Given the description of an element on the screen output the (x, y) to click on. 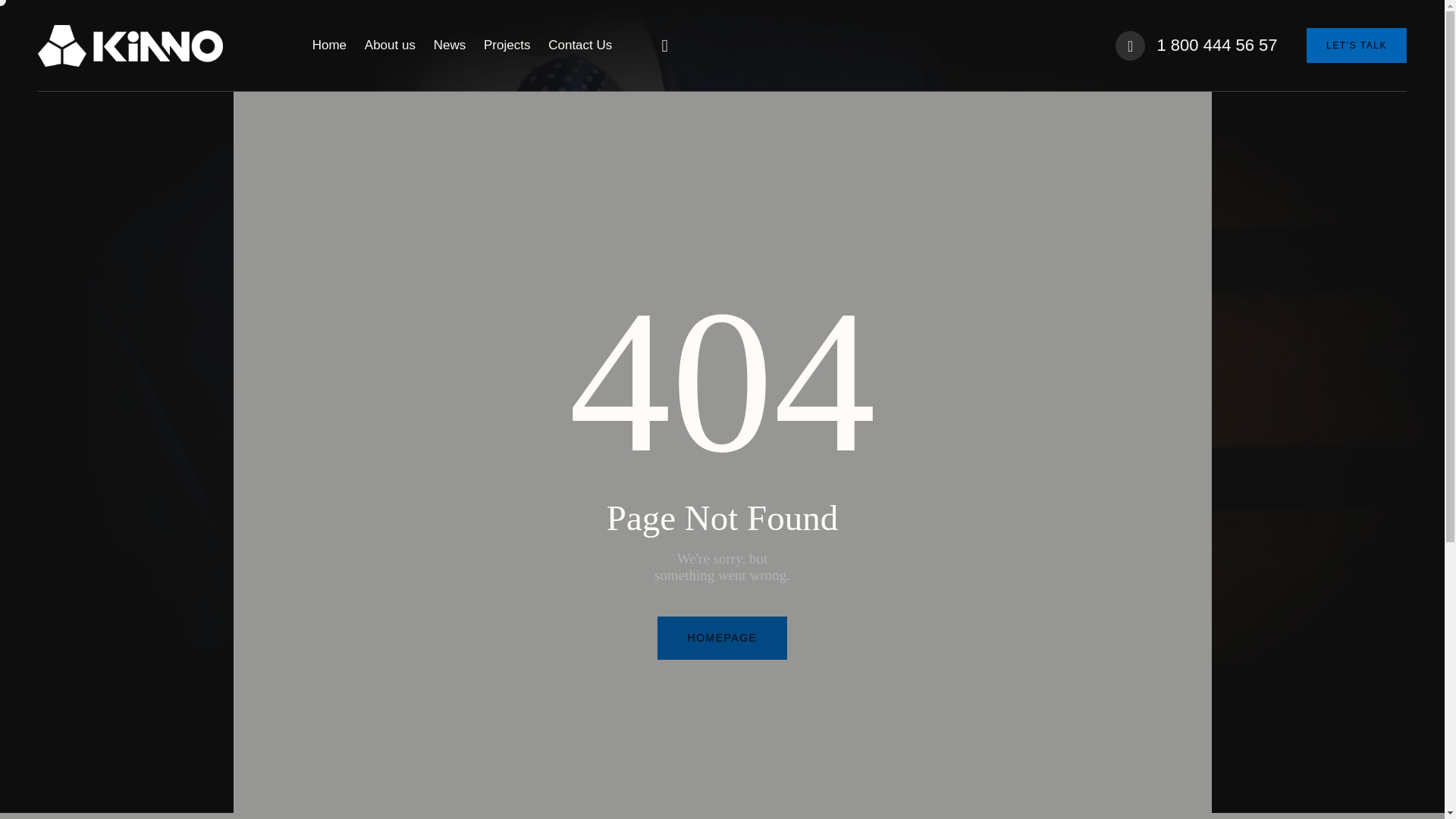
News (449, 45)
Home (328, 45)
HOMEPAGE (722, 638)
Contact Us (579, 45)
About us (390, 45)
Projects (506, 45)
1 800 444 56 57 (1195, 44)
